Given the description of an element on the screen output the (x, y) to click on. 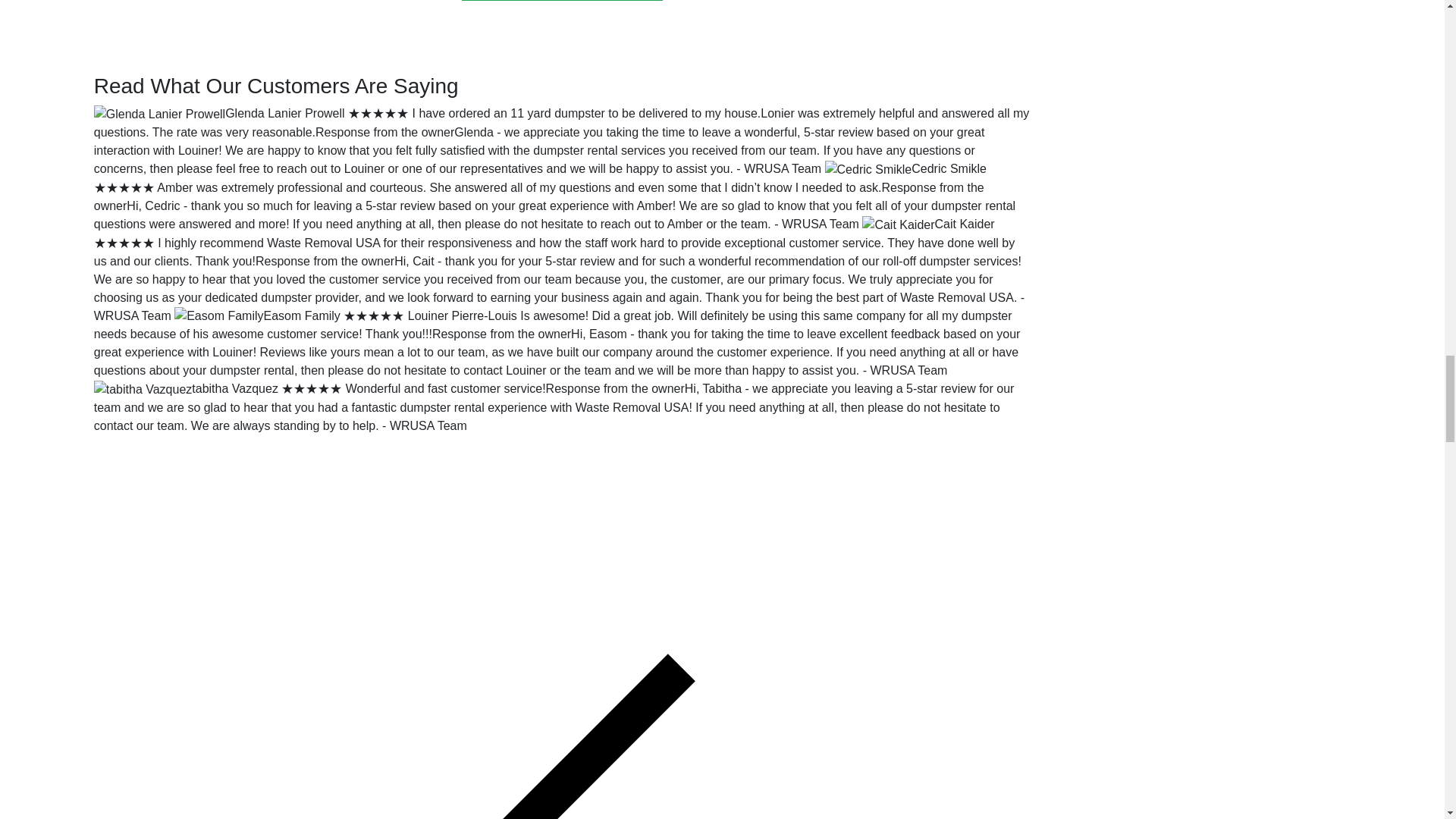
Wonderful and fast customer service! (446, 388)
Cedric Smikle (949, 168)
Cait Kaider (964, 223)
Easom Family (301, 315)
Glenda Lanier Prowell (284, 113)
tabitha Vazquez (235, 388)
